Given the description of an element on the screen output the (x, y) to click on. 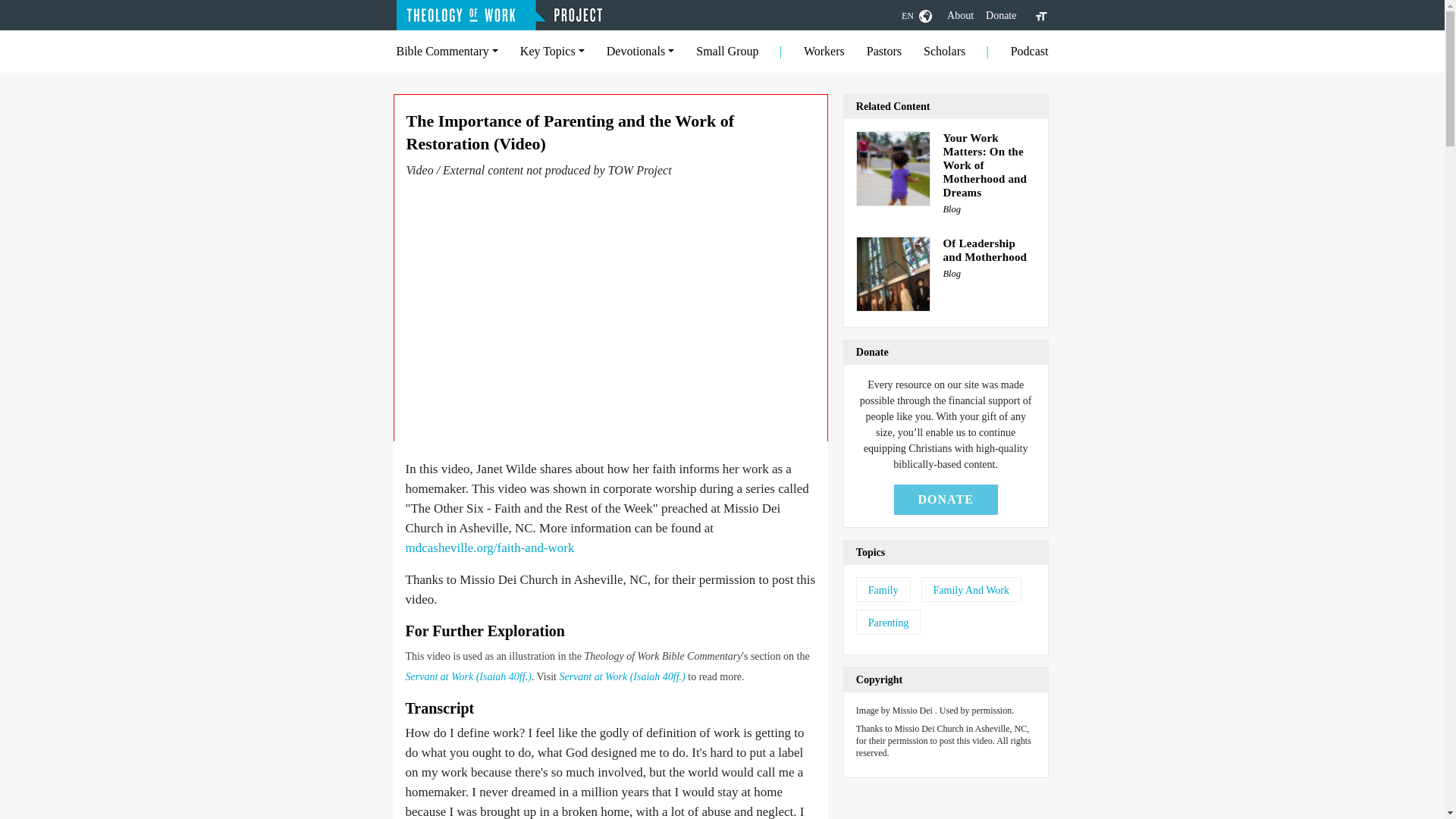
About (959, 15)
Donate (1000, 15)
Donate (1000, 15)
EN (916, 15)
About (959, 15)
Bible Commentary (446, 51)
